Given the description of an element on the screen output the (x, y) to click on. 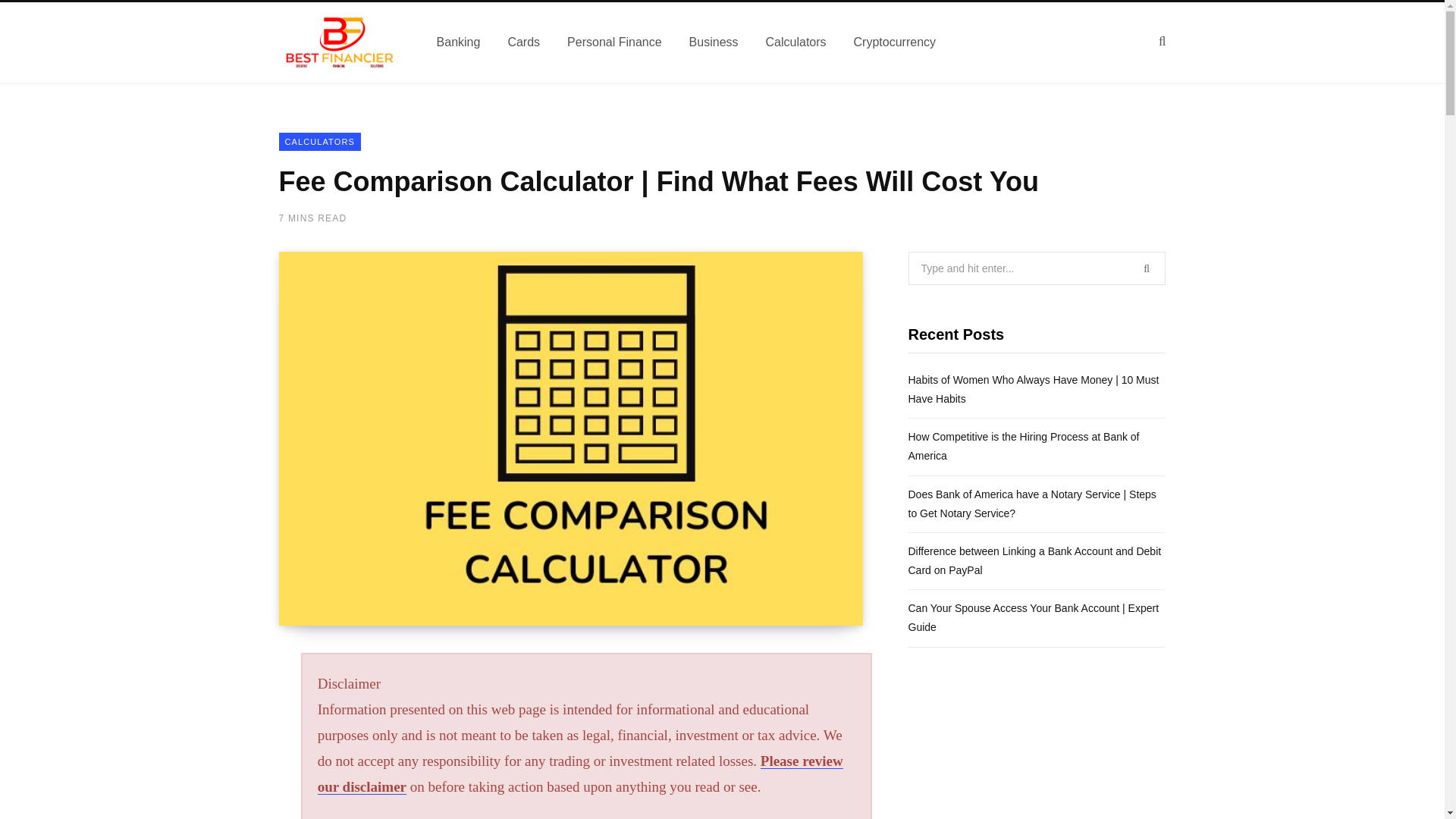
Business (713, 41)
How Competitive is the Hiring Process at Bank of America (1024, 445)
Banking (459, 41)
Cards (523, 41)
CALCULATORS (320, 141)
Please review our disclaimer (580, 773)
Cryptocurrency (894, 41)
Calculators (796, 41)
Search for: (1037, 268)
Personal Finance (614, 41)
Best Financier (339, 42)
